Given the description of an element on the screen output the (x, y) to click on. 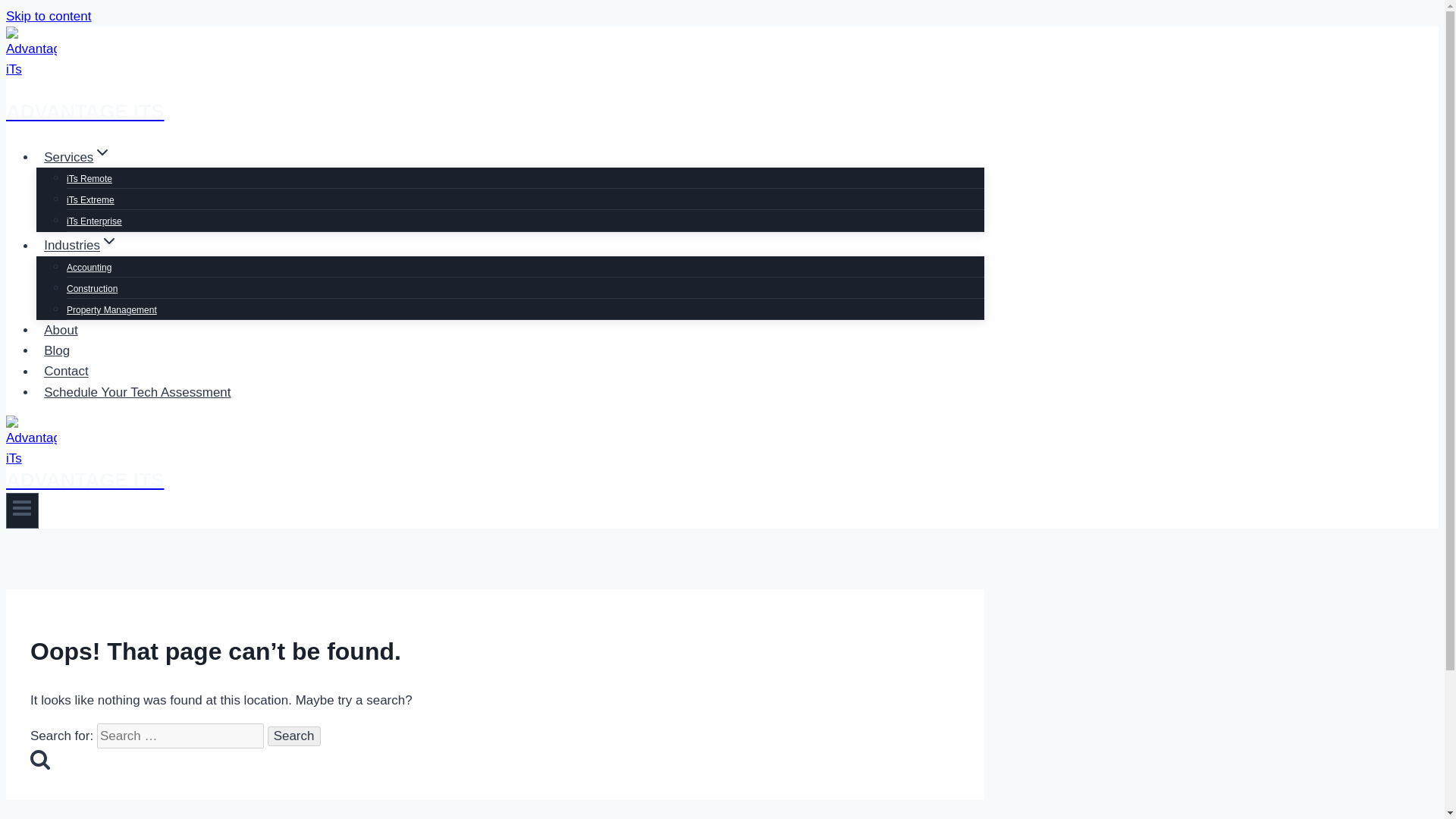
Search (39, 758)
Toggle Menu (22, 510)
Search (293, 736)
ADVANTAGE ITS (494, 471)
Schedule Your Tech Assessment (137, 392)
ServicesExpand (77, 157)
ADVANTAGE ITS (494, 92)
iTs Enterprise (94, 221)
Search (293, 736)
Expand (108, 240)
